Given the description of an element on the screen output the (x, y) to click on. 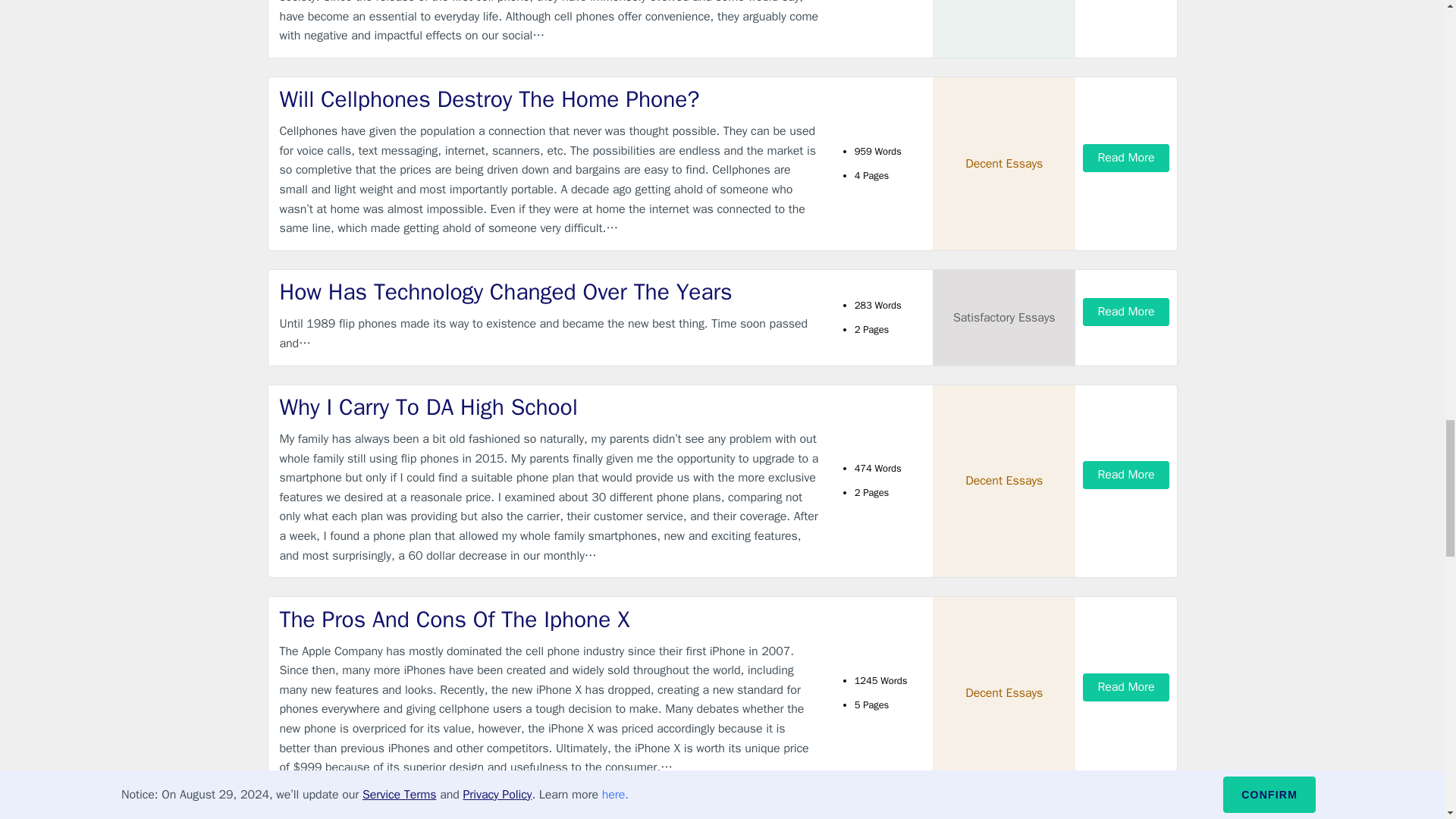
How Has Technology Changed Over The Years (548, 291)
Read More (1126, 157)
Will Cellphones Destroy The Home Phone? (548, 99)
